Given the description of an element on the screen output the (x, y) to click on. 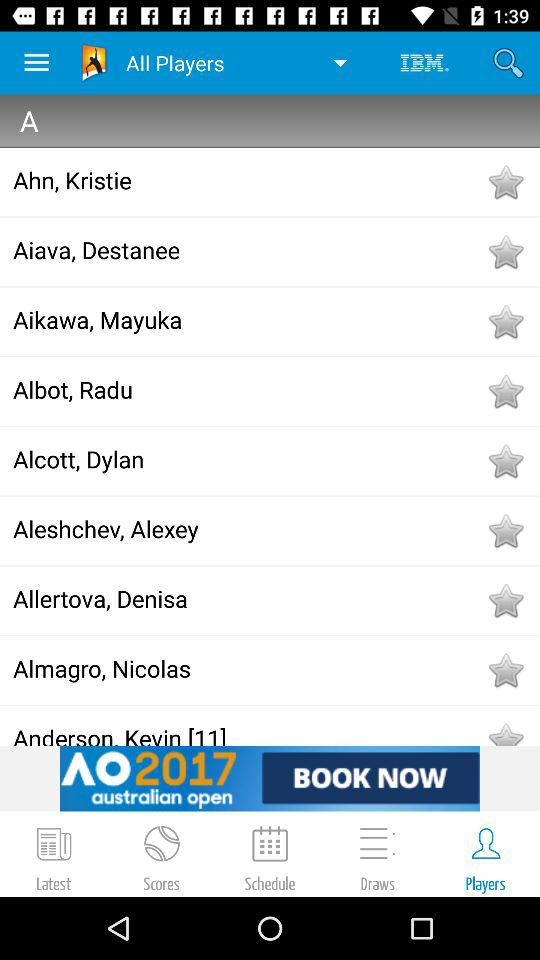
add to favorites (505, 252)
